Given the description of an element on the screen output the (x, y) to click on. 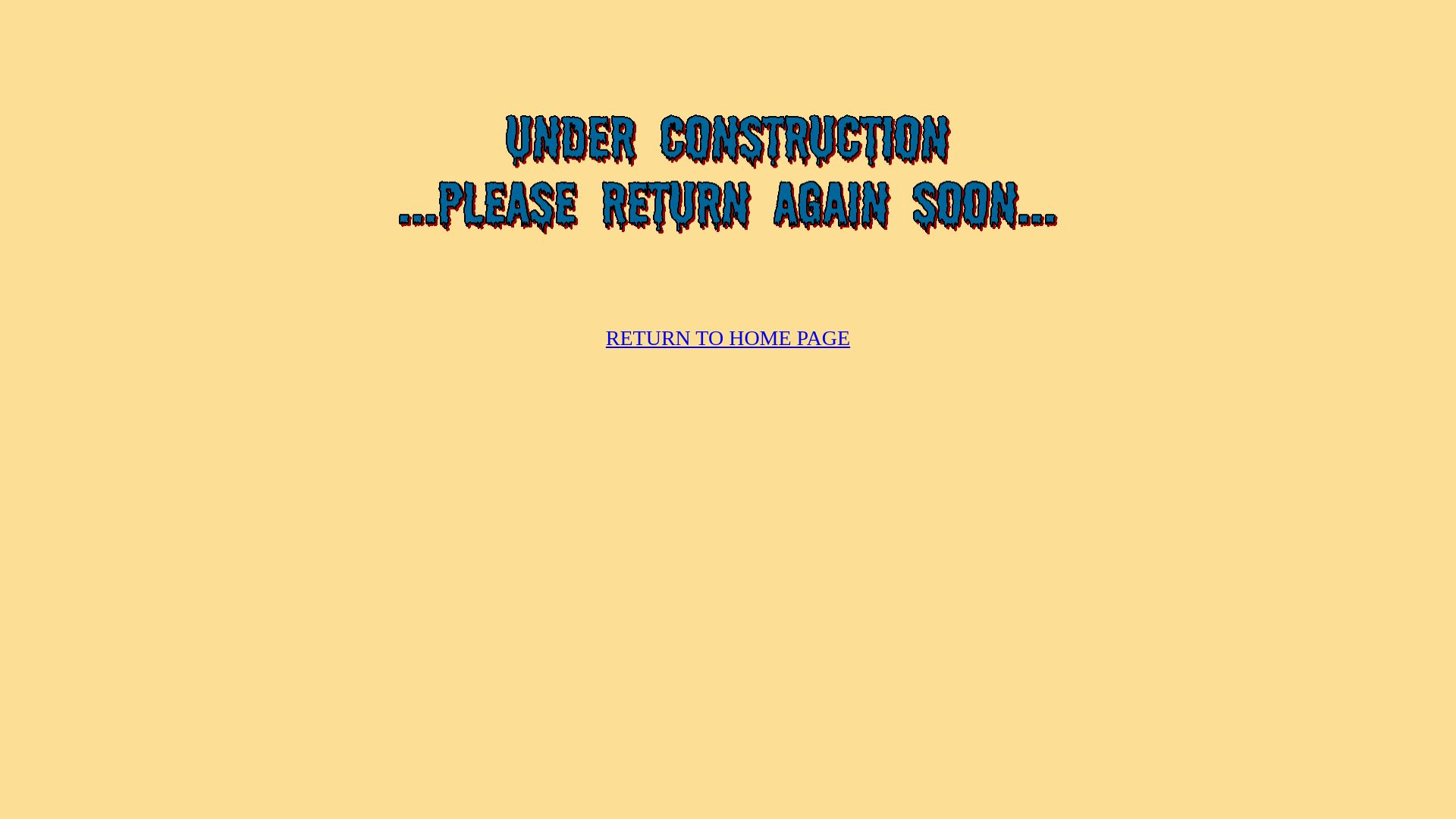
RETURN TO HOME PAGE Element type: text (727, 337)
